Given the description of an element on the screen output the (x, y) to click on. 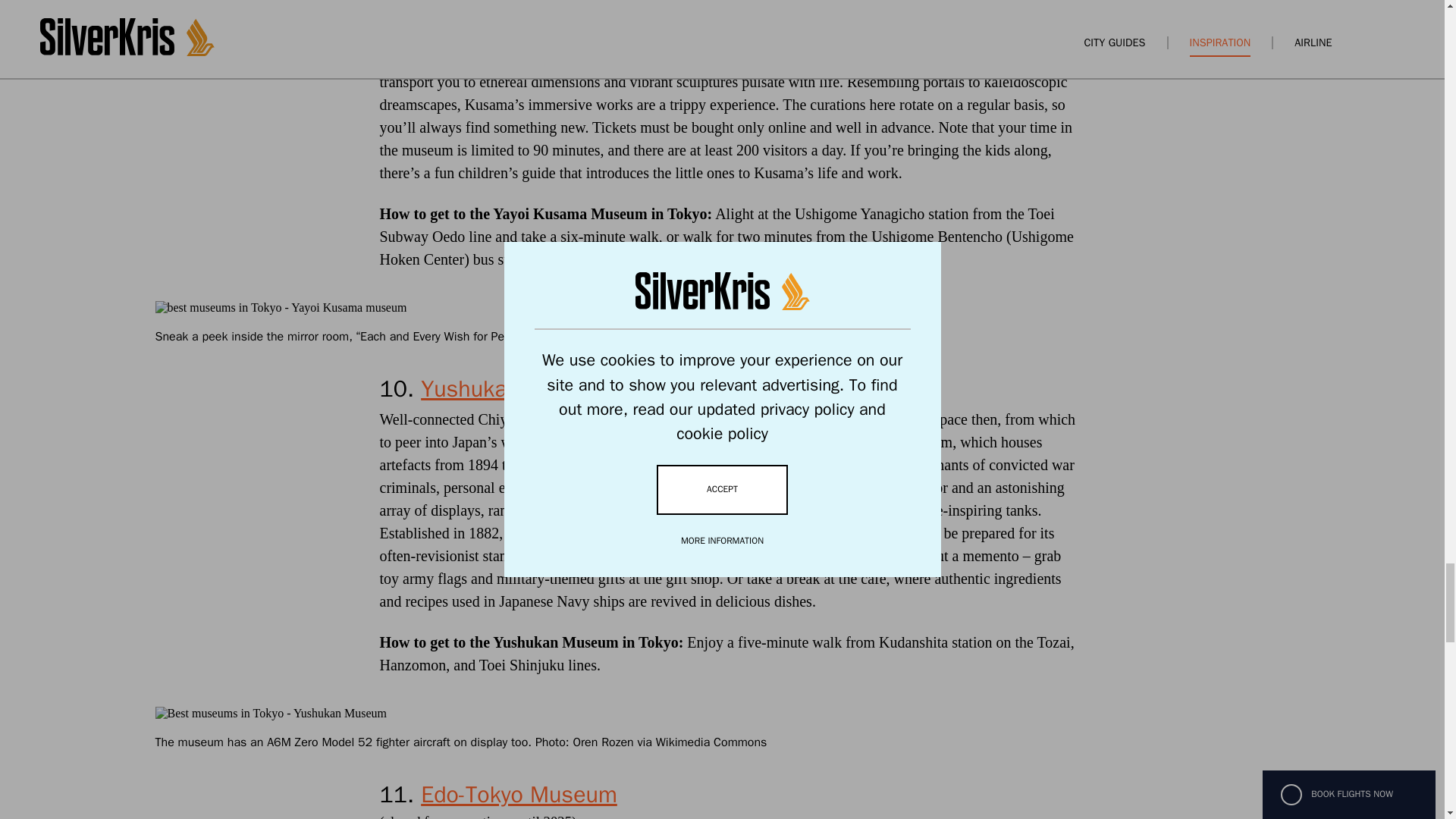
Yayoi Kusama Museum (525, 10)
Yushukan Museum (516, 388)
Edo-Tokyo Museum (518, 794)
